Given the description of an element on the screen output the (x, y) to click on. 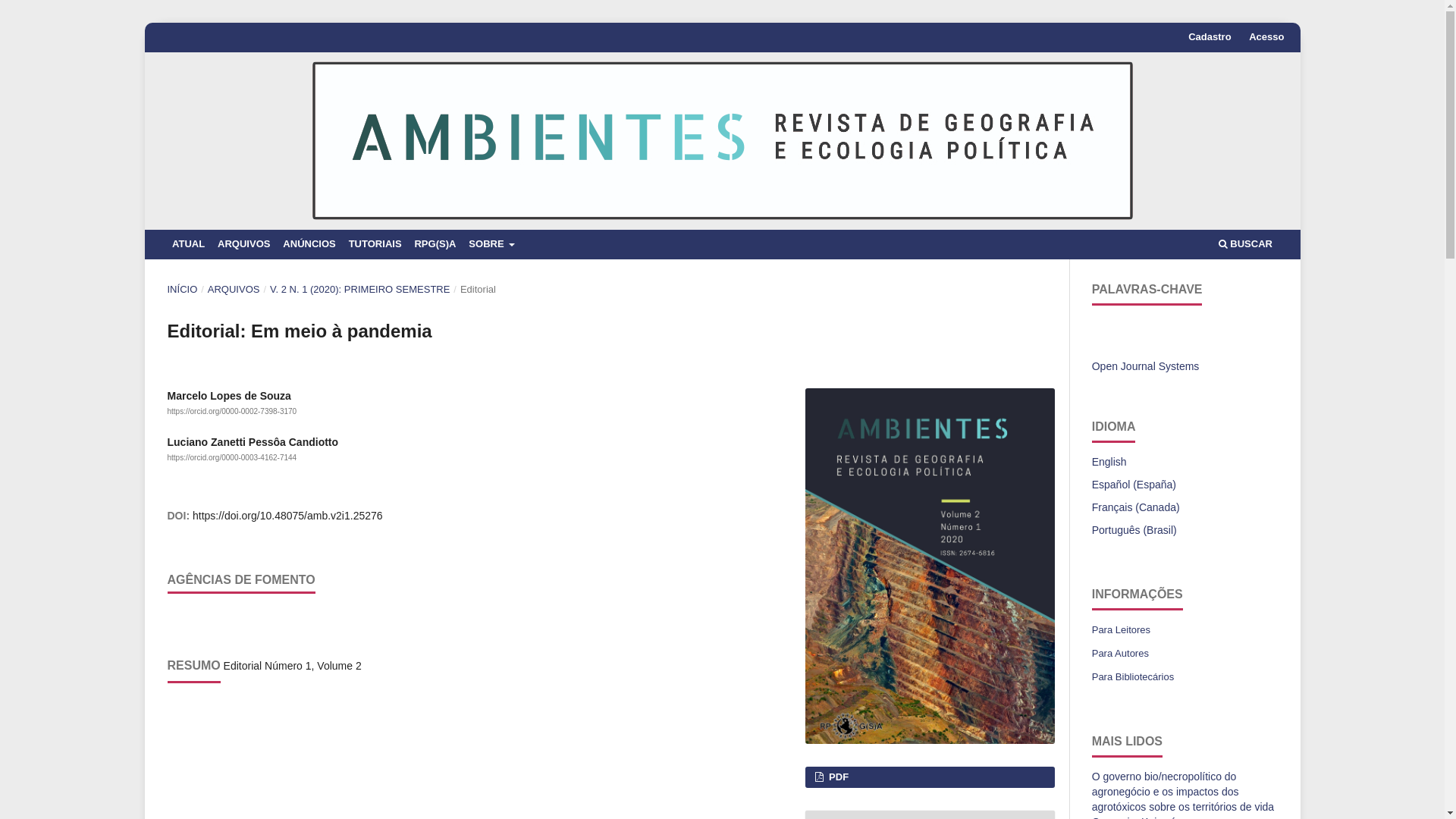
https://orcid.org/0000-0002-7398-3170 Element type: text (231, 411)
SOBRE Element type: text (492, 244)
https://doi.org/10.48075/amb.v2i1.25276 Element type: text (287, 515)
Acesso Element type: text (1266, 37)
TUTORIAIS Element type: text (374, 244)
PDF Element type: text (929, 776)
Open Journal Systems Element type: text (1145, 366)
Cadastro Element type: text (1209, 37)
ARQUIVOS Element type: text (233, 289)
V. 2 N. 1 (2020): PRIMEIRO SEMESTRE Element type: text (359, 289)
English Element type: text (1109, 461)
BUSCAR Element type: text (1245, 244)
Para Autores Element type: text (1120, 652)
https://orcid.org/0000-0003-4162-7144 Element type: text (231, 458)
Para Leitores Element type: text (1121, 629)
RPG(S)A Element type: text (435, 244)
ARQUIVOS Element type: text (244, 244)
ATUAL Element type: text (187, 244)
